Given the description of an element on the screen output the (x, y) to click on. 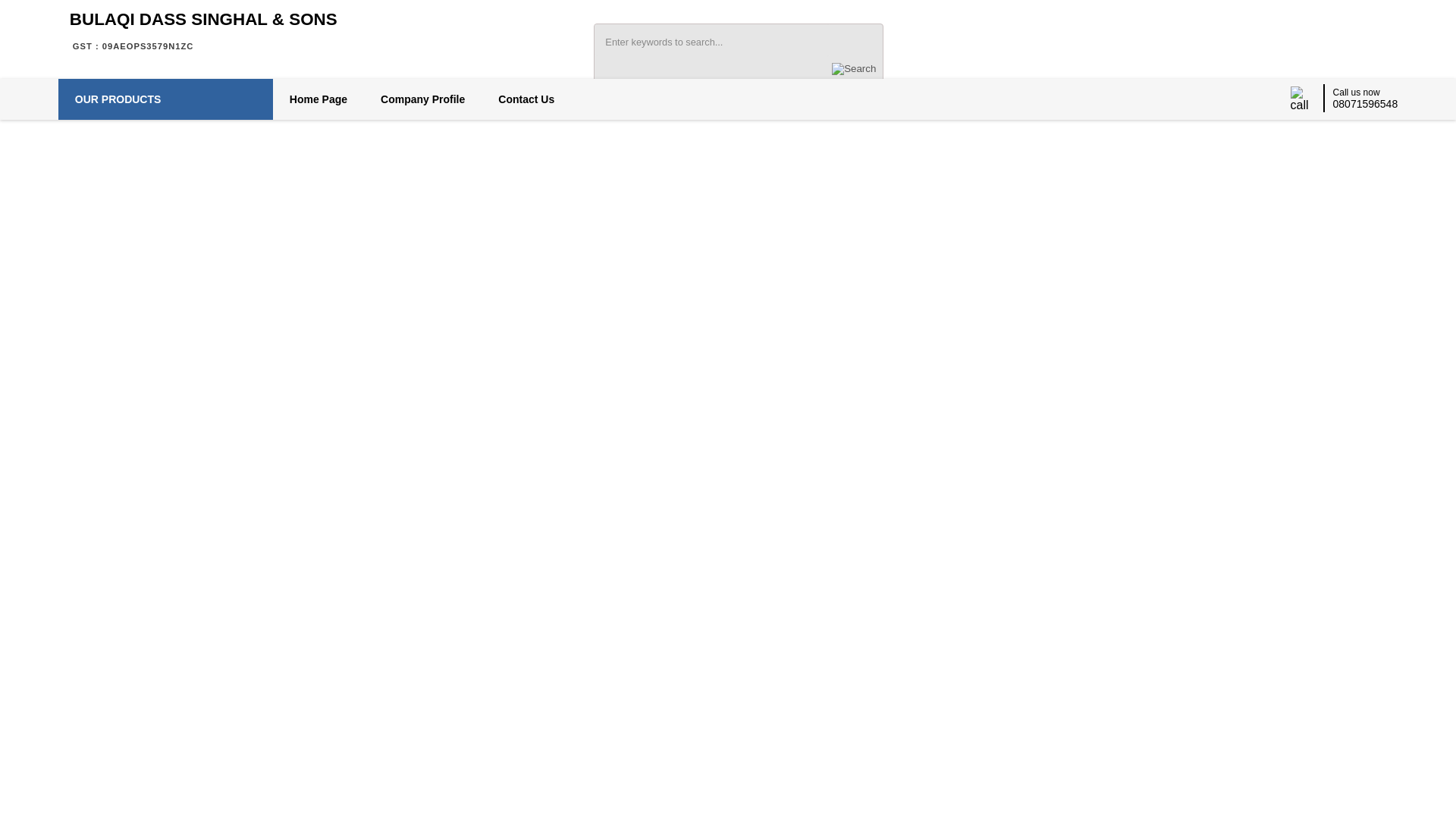
Enter keywords to search... (711, 40)
submit (853, 68)
Contact Us (525, 98)
Home Page (318, 98)
Company Profile (422, 98)
OUR PRODUCTS (165, 98)
submit (853, 68)
